Given the description of an element on the screen output the (x, y) to click on. 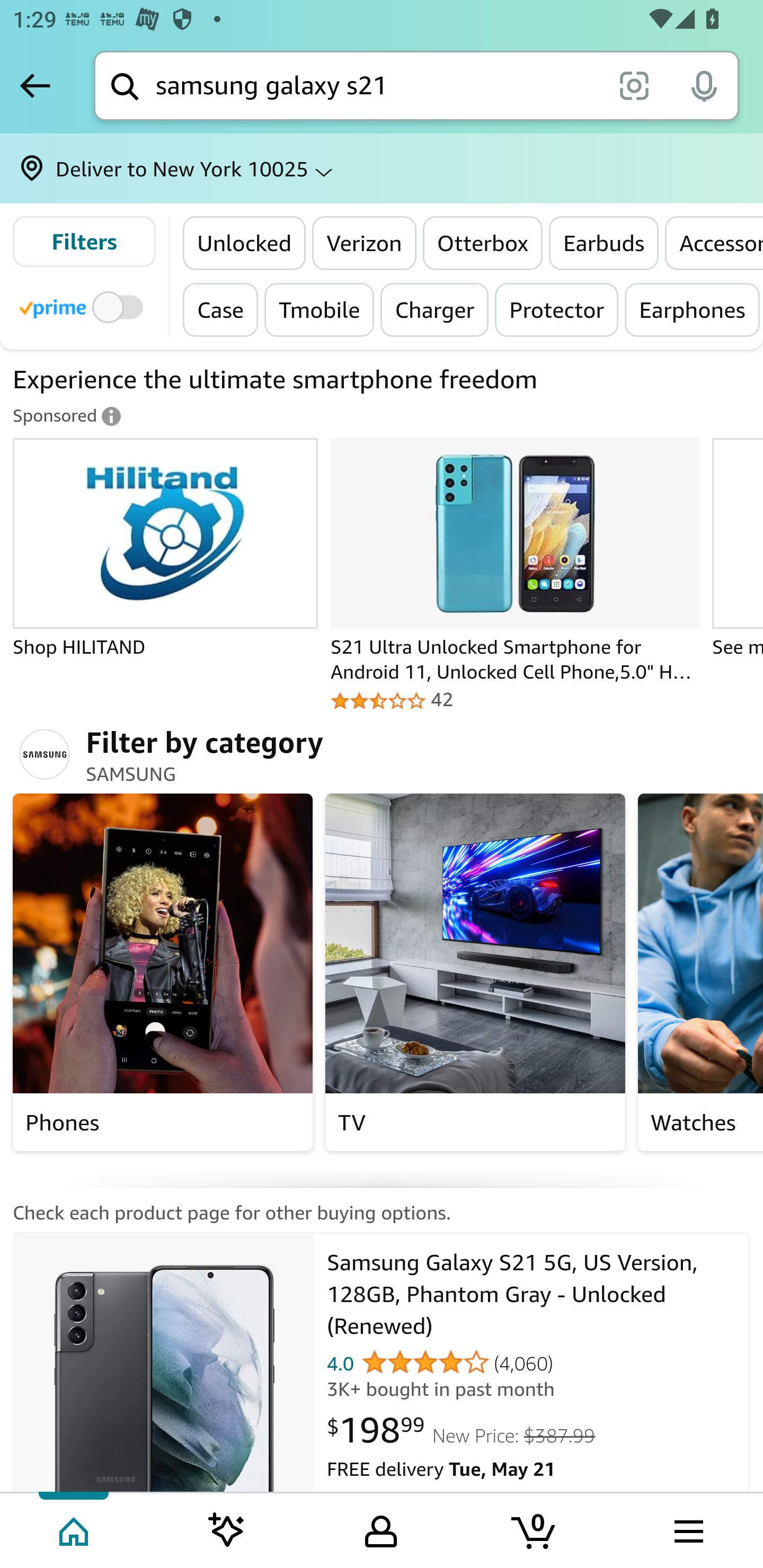
Back (35, 85)
scan it (633, 85)
Deliver to New York 10025 ⌵ (381, 168)
Filters (83, 241)
Unlocked (244, 242)
Verizon (363, 242)
Otterbox (482, 242)
Earbuds (603, 242)
Accessories (713, 242)
Toggle to filter by Prime products Prime Eligible (83, 306)
Case (221, 309)
Tmobile (319, 309)
Charger (434, 309)
Protector (556, 309)
Earphones (691, 309)
Leave feedback on Sponsored ad (67, 416)
SAMSUNG (49, 754)
Home Tab 1 of 5 (75, 1529)
Inspire feed Tab 2 of 5 (227, 1529)
Your Amazon.com Tab 3 of 5 (380, 1529)
Cart 0 item Tab 4 of 5 0 (534, 1529)
Browse menu Tab 5 of 5 (687, 1529)
